Given the description of an element on the screen output the (x, y) to click on. 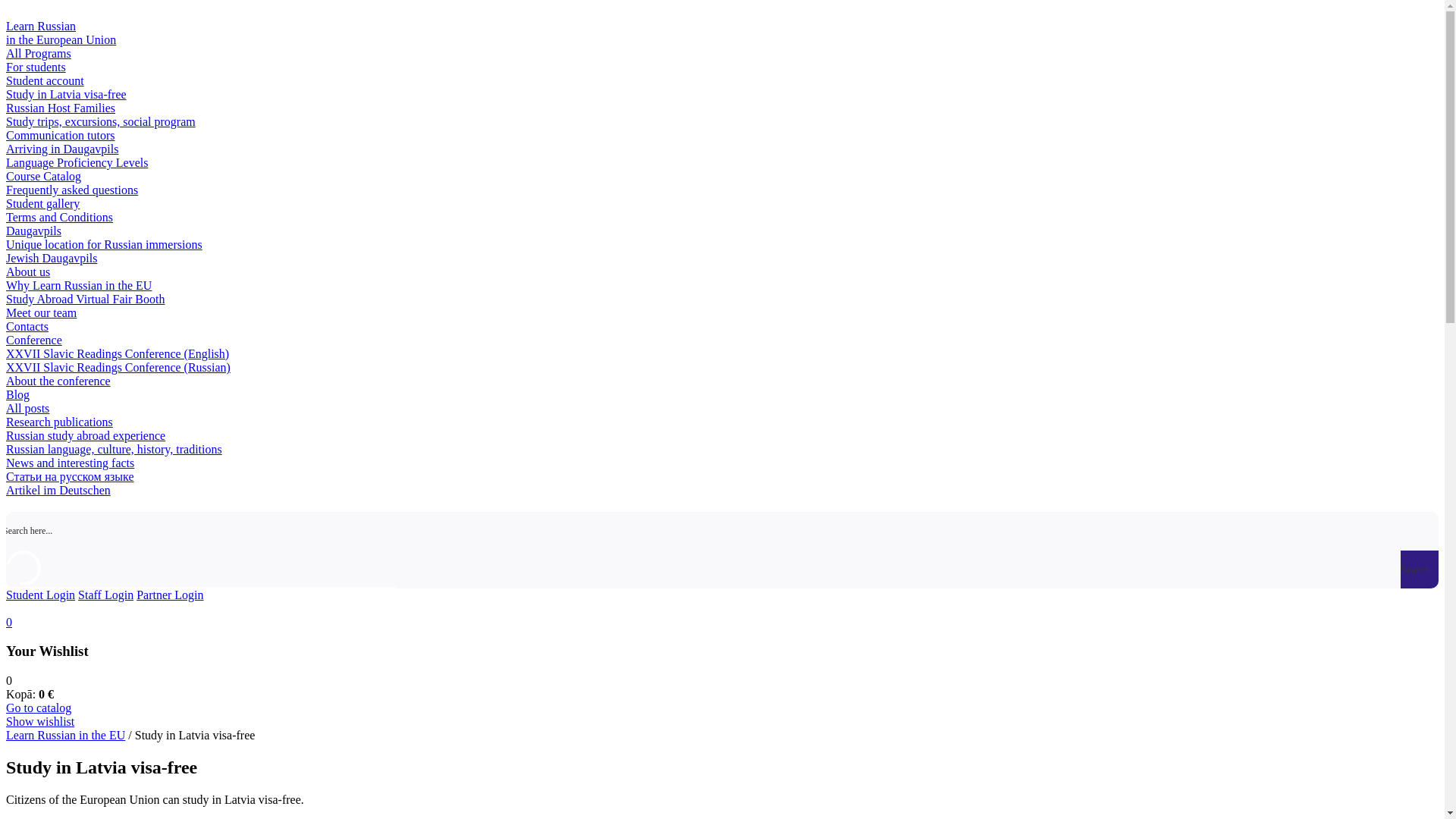
Student account (44, 80)
News and interesting facts (69, 462)
Jewish Daugavpils (51, 257)
Daugavpils (33, 230)
Study trips, excursions, social program (100, 121)
Course Catalog (43, 175)
Study Abroad Virtual Fair Booth (84, 298)
All posts (27, 408)
About the conference (57, 380)
Meet our team (41, 312)
Partner Login (169, 594)
Research publications (59, 421)
Unique location for Russian immersions (103, 244)
Study in Latvia visa-free (65, 93)
Staff Login (105, 594)
